Given the description of an element on the screen output the (x, y) to click on. 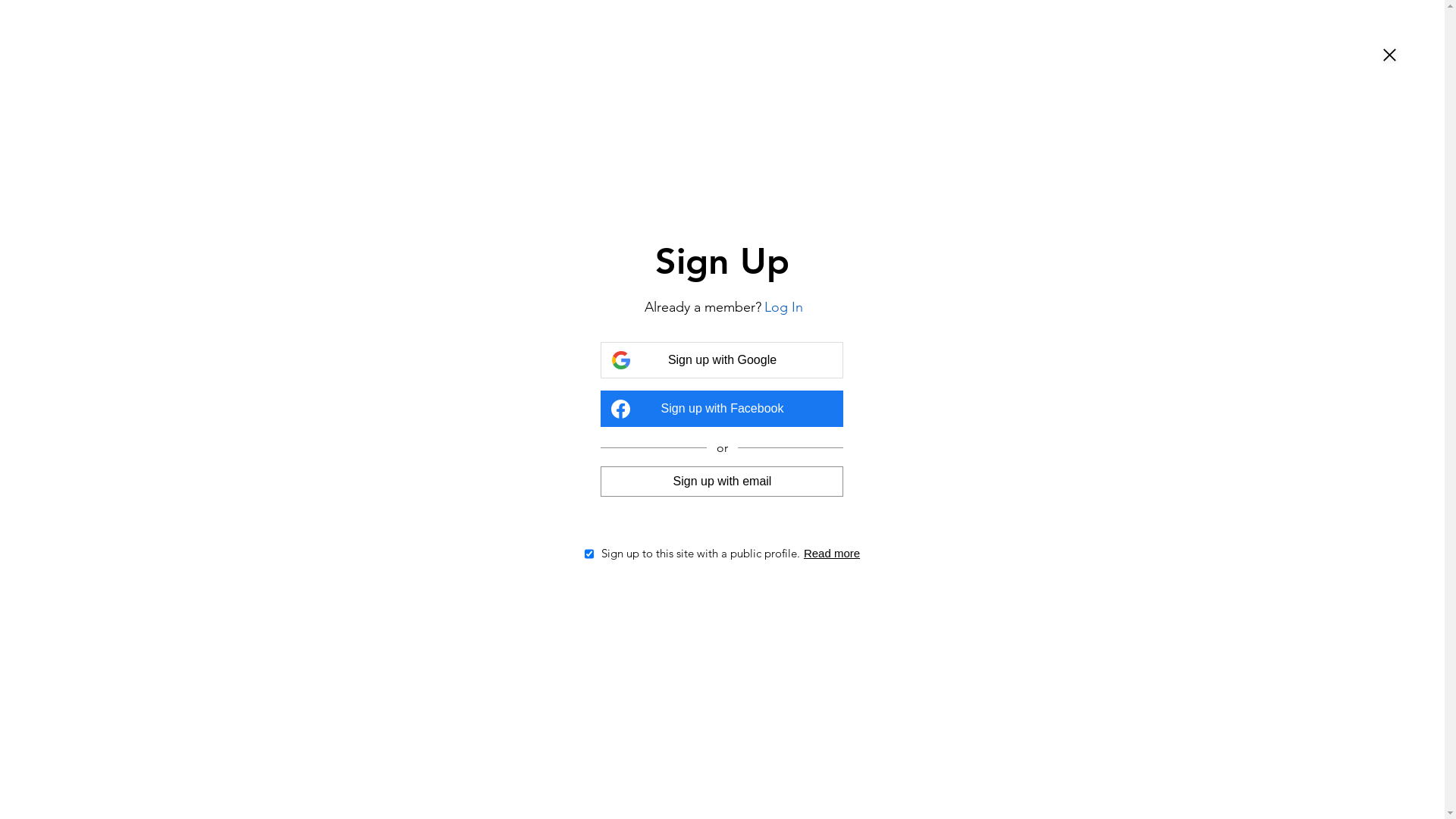
Sign up with Google Element type: text (721, 360)
Log In Element type: text (783, 307)
Read more Element type: text (831, 552)
Sign up with email Element type: text (721, 481)
Sign up with Facebook Element type: text (721, 408)
